Given the description of an element on the screen output the (x, y) to click on. 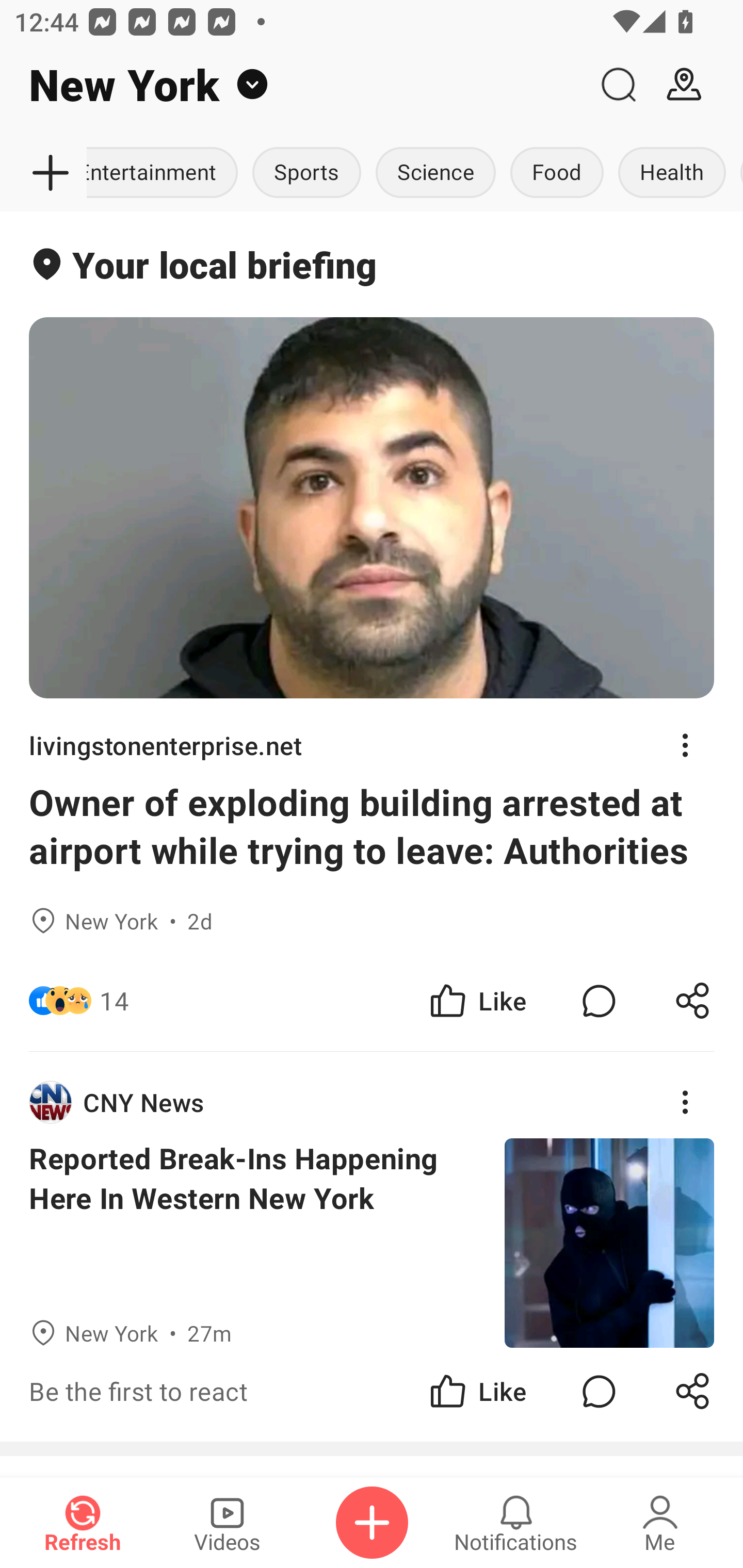
New York (292, 84)
Entertainment (165, 172)
Sports (306, 172)
Science (435, 172)
Food (556, 172)
Health (671, 172)
14 (114, 1001)
Like (476, 1001)
Be the first to react (244, 1391)
Like (476, 1391)
Videos (227, 1522)
Notifications (516, 1522)
Me (659, 1522)
